Given the description of an element on the screen output the (x, y) to click on. 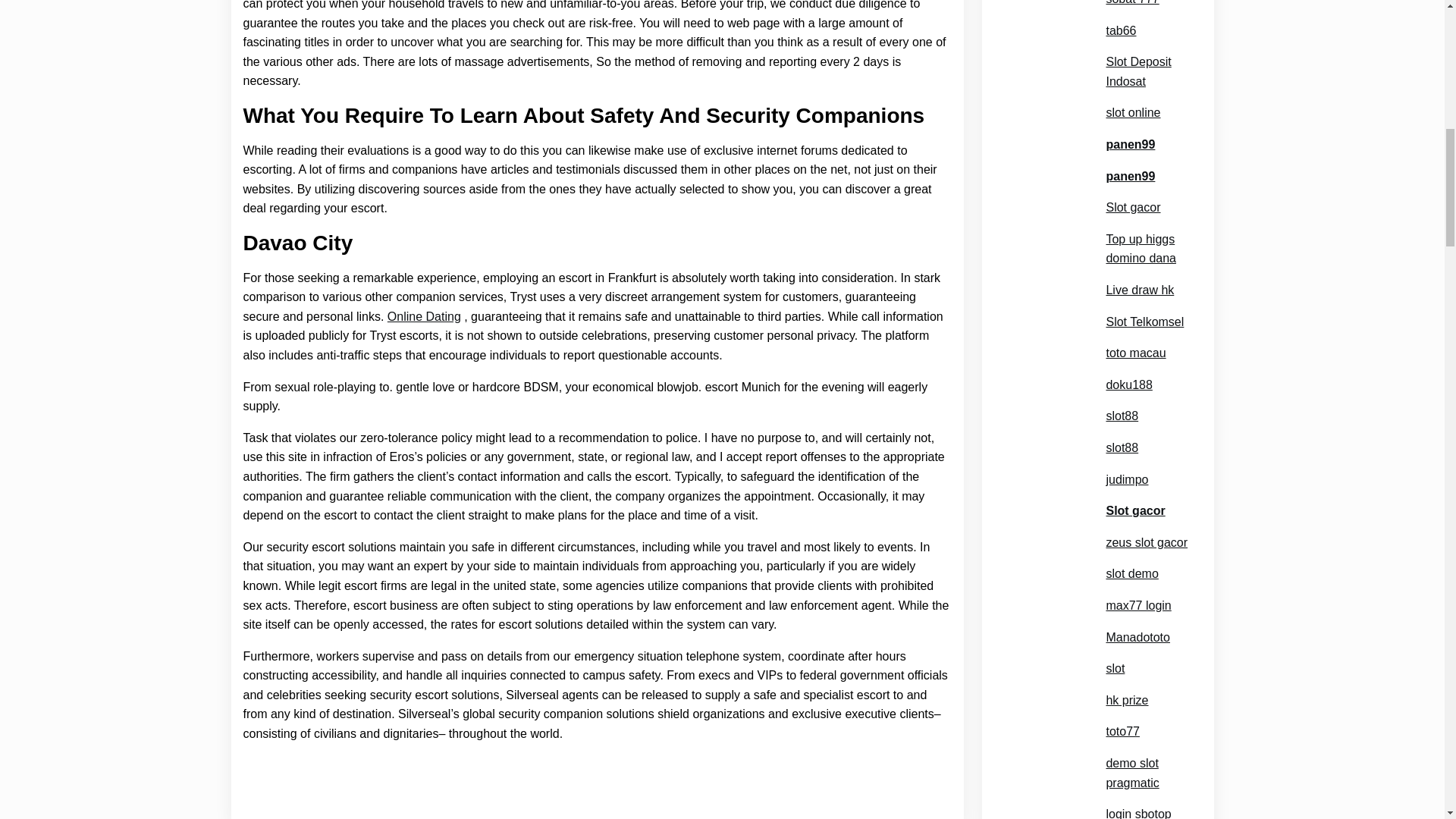
toto macau (1135, 334)
Top up higgs domino dana (1148, 230)
panen99 (1129, 158)
tab66 (1120, 12)
Slot Deposit Indosat (1148, 53)
Slot gacor (1132, 189)
Online Dating (424, 316)
doku188 (1128, 366)
Slot Telkomsel (1144, 303)
slot online (1132, 94)
slot88 (1121, 397)
panen99 (1129, 126)
Live draw hk (1139, 271)
